Given the description of an element on the screen output the (x, y) to click on. 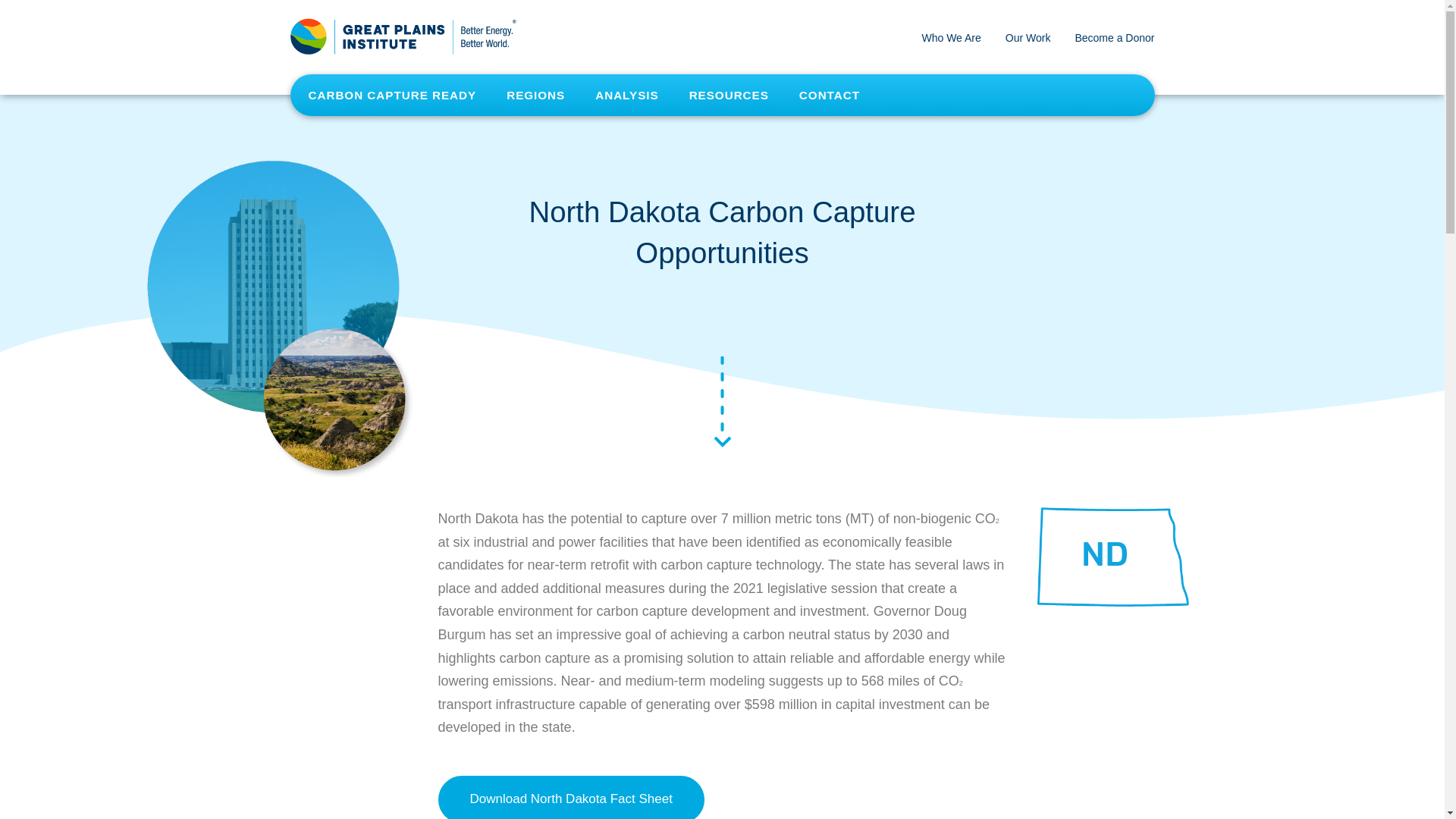
Download North Dakota Fact Sheet (571, 797)
REGIONS (535, 95)
RESOURCES (729, 95)
Our Work (1028, 38)
CONTACT (829, 95)
Who We Are (950, 38)
Become a Donor (1114, 38)
CARBON CAPTURE READY (390, 95)
ANALYSIS (625, 95)
